Given the description of an element on the screen output the (x, y) to click on. 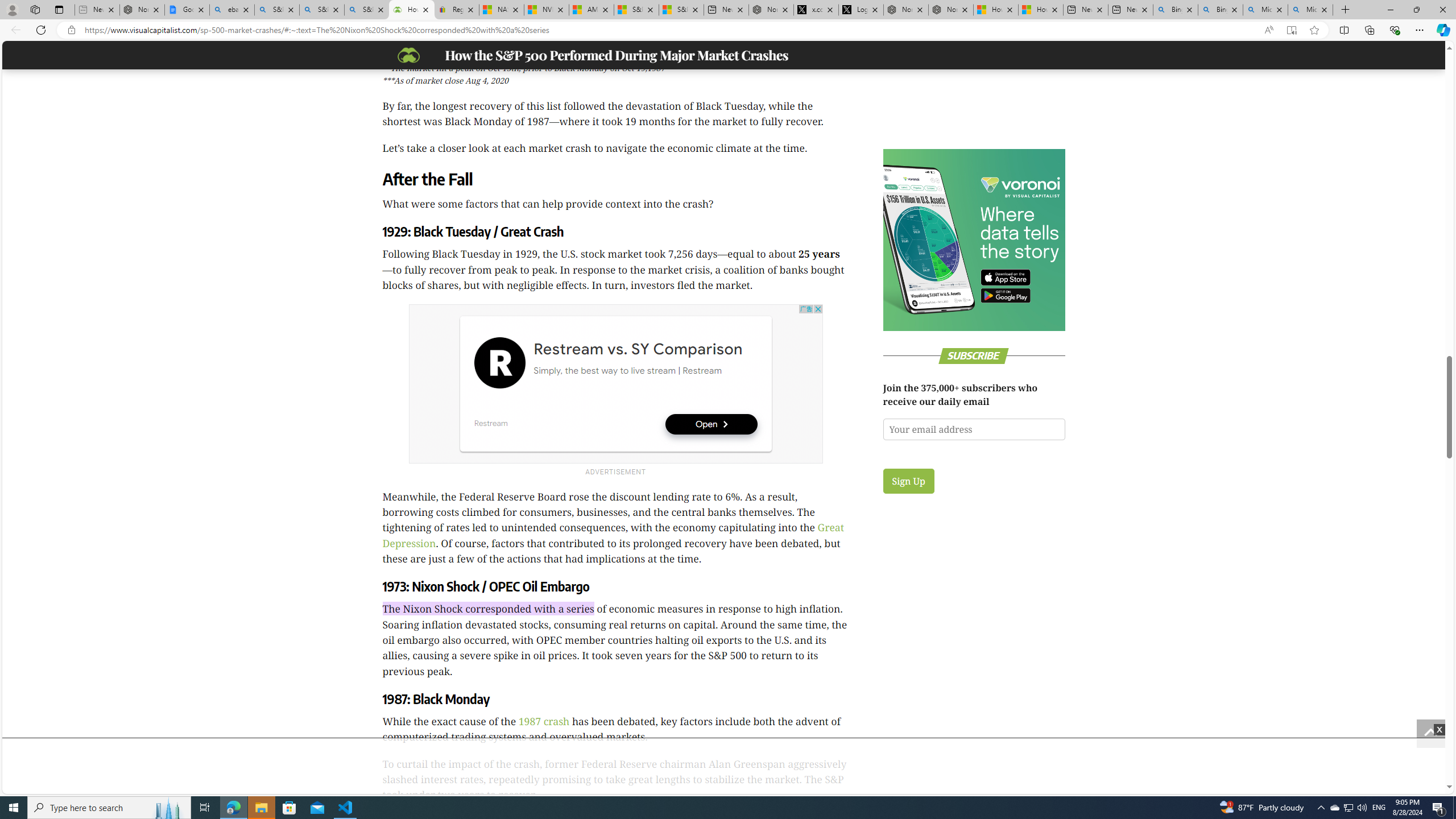
x.com/NordaceOfficial (816, 9)
Register: Create a personal eBay account (456, 9)
How to Use a Monitor With Your Closed Laptop (1040, 9)
Restream (499, 363)
Great Depression (612, 535)
Join the 375,000+ subscribers who receive our daily email (973, 428)
How the S&P 500 Performed During Major Market Crashes (411, 9)
Microsoft Bing Timeline - Search (1310, 9)
S&P 500 - Search (321, 9)
